Given the description of an element on the screen output the (x, y) to click on. 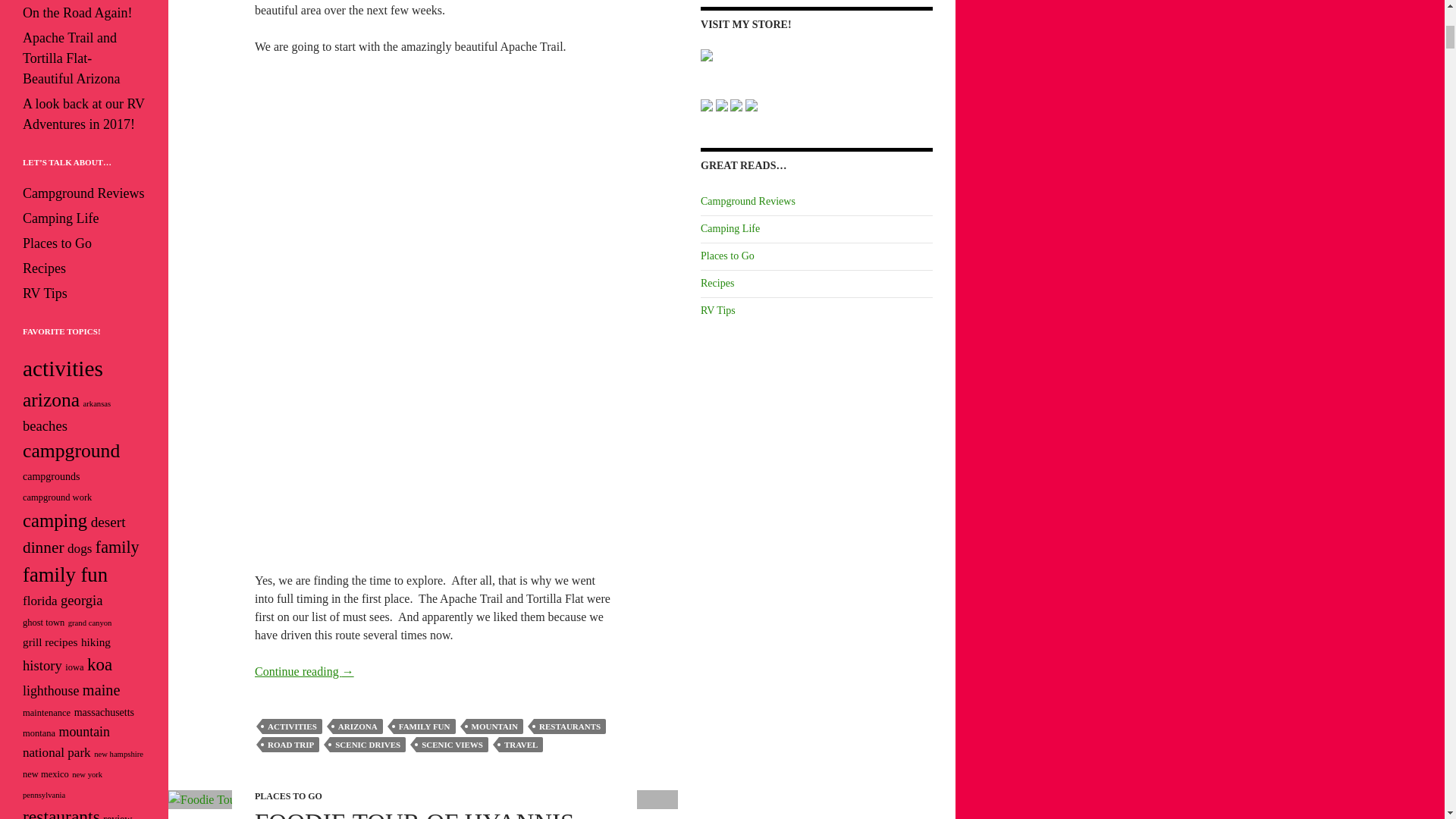
FAMILY FUN (424, 726)
MOUNTAIN (493, 726)
TRAVEL (521, 744)
SCENIC DRIVES (368, 744)
ROAD TRIP (290, 744)
ARIZONA (357, 726)
ACTIVITIES (291, 726)
SCENIC VIEWS (451, 744)
PLACES TO GO (287, 796)
FOODIE TOUR OF HYANNIS (413, 814)
RESTAURANTS (569, 726)
